Given the description of an element on the screen output the (x, y) to click on. 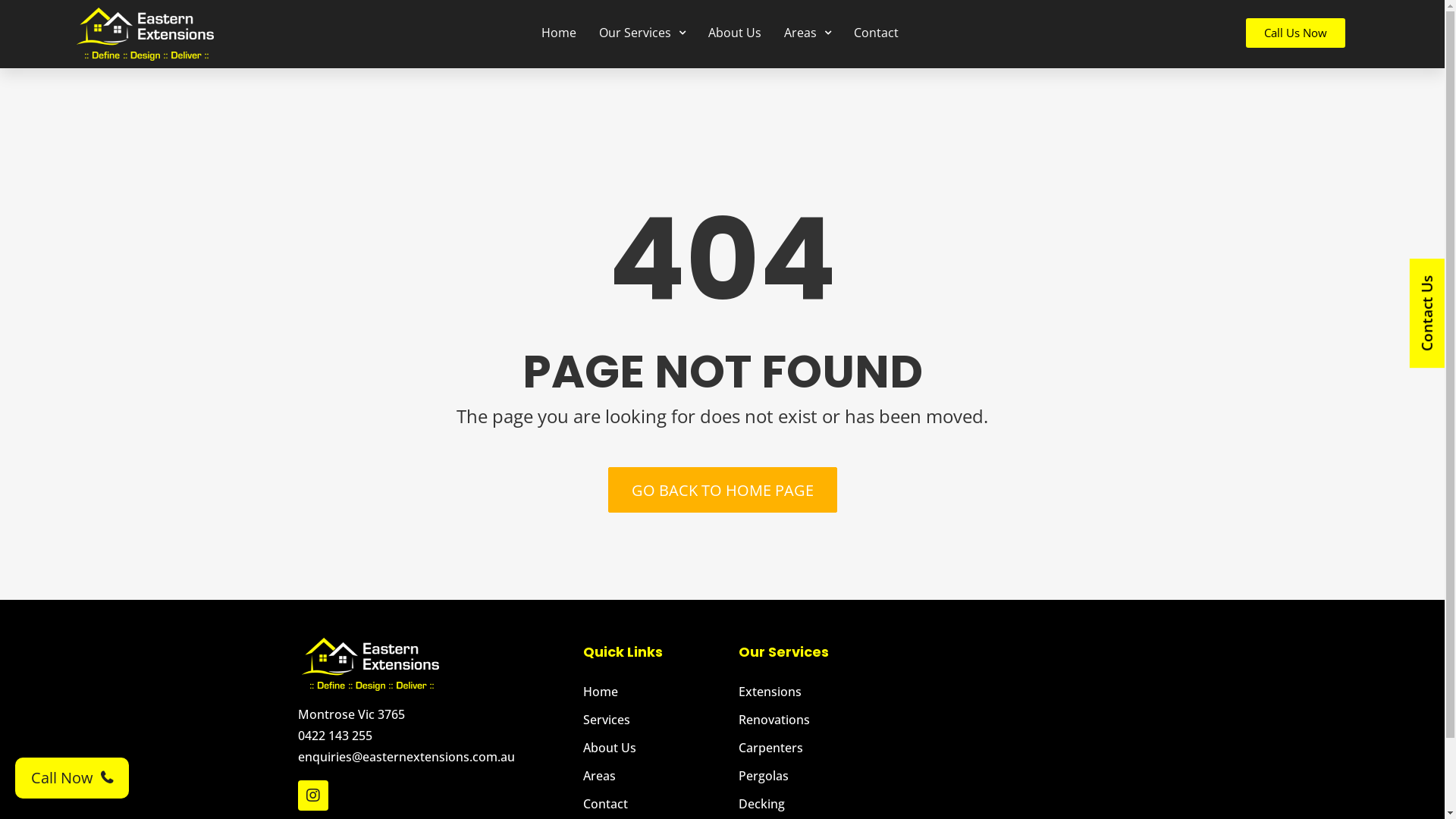
0422 143 255 Element type: text (432, 735)
Decking Element type: text (813, 803)
GO BACK TO HOME PAGE Element type: text (722, 489)
Montrose Vic 3765 Element type: hover (1024, 722)
Areas Element type: text (653, 775)
Carpenters Element type: text (813, 747)
Renovations Element type: text (813, 719)
Our Services Element type: text (641, 32)
About Us Element type: text (653, 747)
Call Us Now Element type: text (1295, 32)
Extensions Element type: text (813, 691)
Areas Element type: text (807, 32)
Services Element type: text (653, 719)
Home Element type: text (558, 32)
About Us Element type: text (734, 32)
Contact Element type: text (876, 32)
Pergolas Element type: text (813, 775)
Contact Element type: text (653, 803)
Call Now   Element type: text (71, 777)
Home Element type: text (653, 691)
enquiries@easternextensions.com.au Element type: text (432, 756)
